Given the description of an element on the screen output the (x, y) to click on. 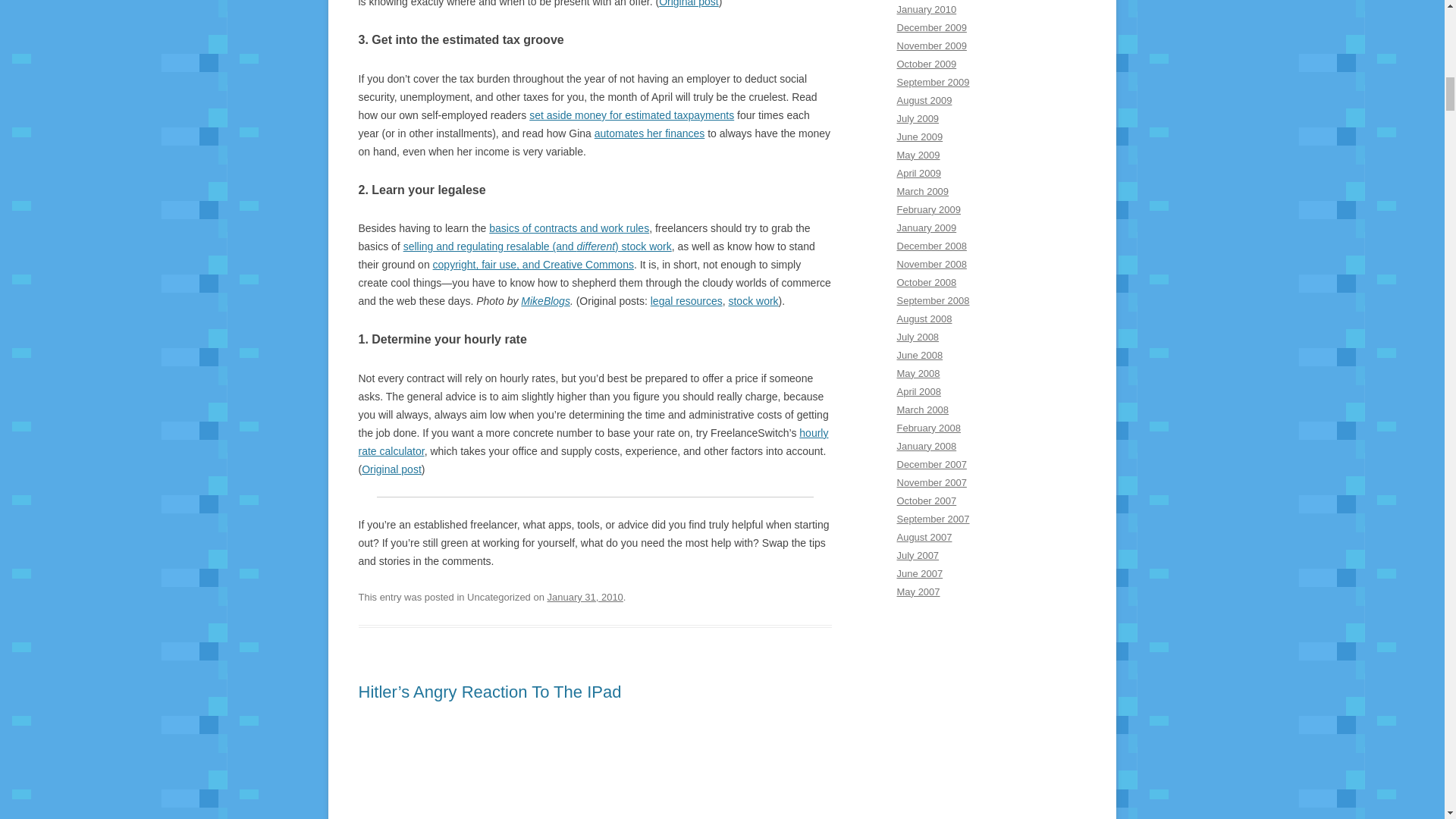
stock work (752, 300)
MikeBlogs (545, 300)
set aside money for estimated taxpayments (631, 114)
copyright, fair use, and Creative Commons (532, 264)
automates her finances (649, 133)
legal resources (686, 300)
basics of contracts and work rules (569, 227)
7:54 pm (585, 596)
Original post (689, 3)
